Given the description of an element on the screen output the (x, y) to click on. 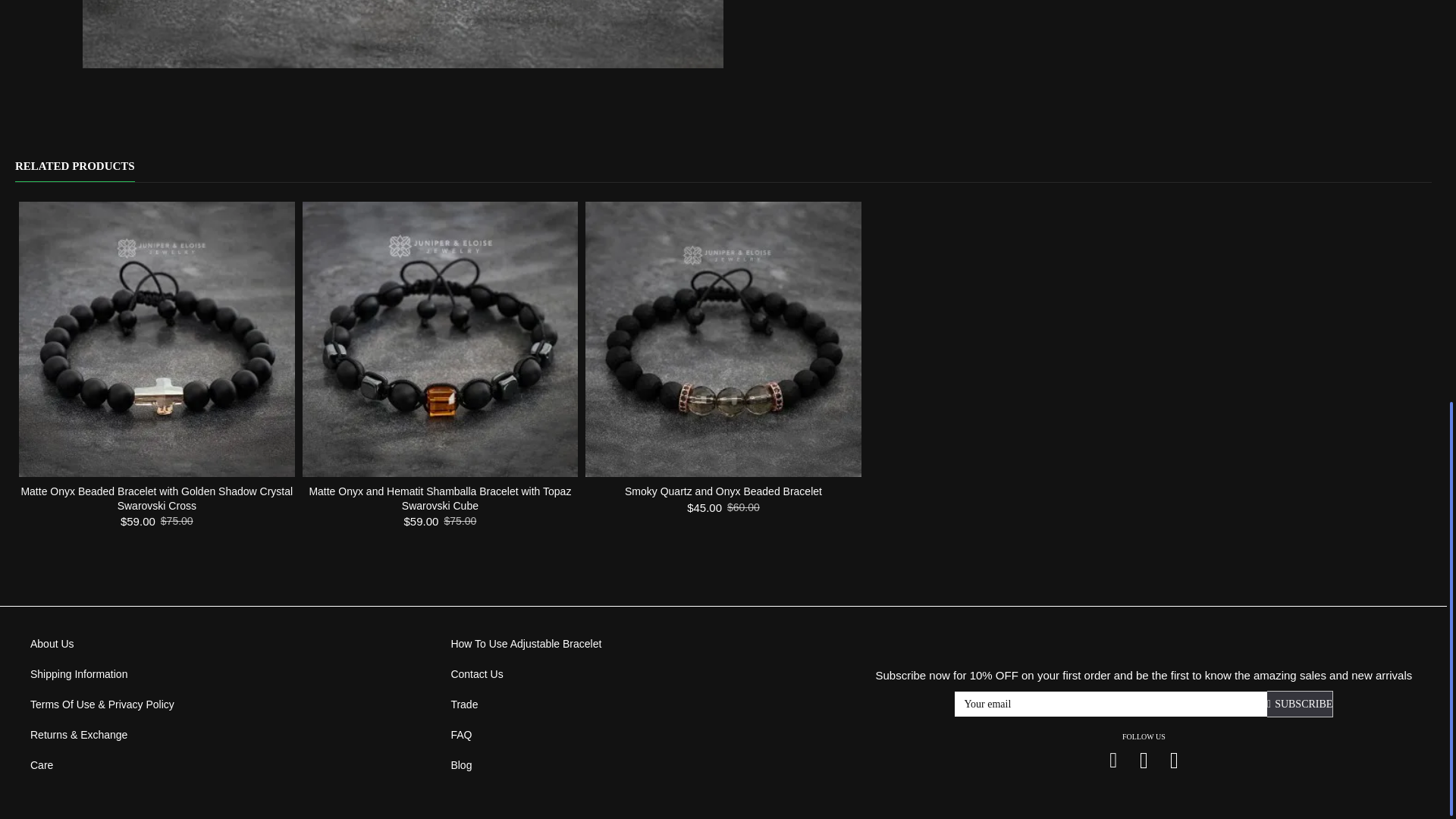
Smoky Quartz and Onyx Beaded Bracelet (723, 339)
Matte Onyx Beaded Bracelet with Topaz Swarovski Cube (402, 33)
